Given the description of an element on the screen output the (x, y) to click on. 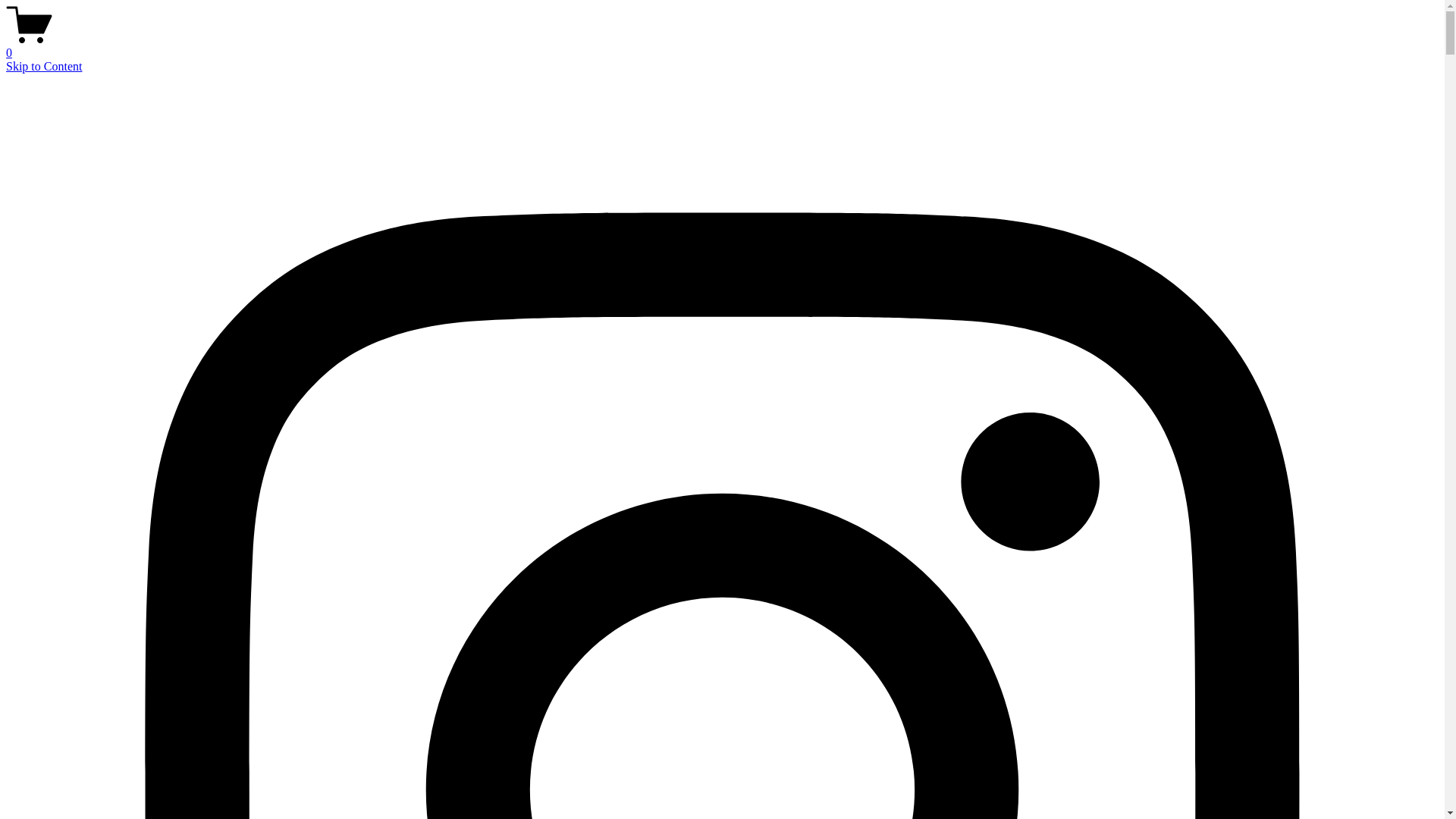
0 Element type: text (722, 45)
Skip to Content Element type: text (43, 65)
